Given the description of an element on the screen output the (x, y) to click on. 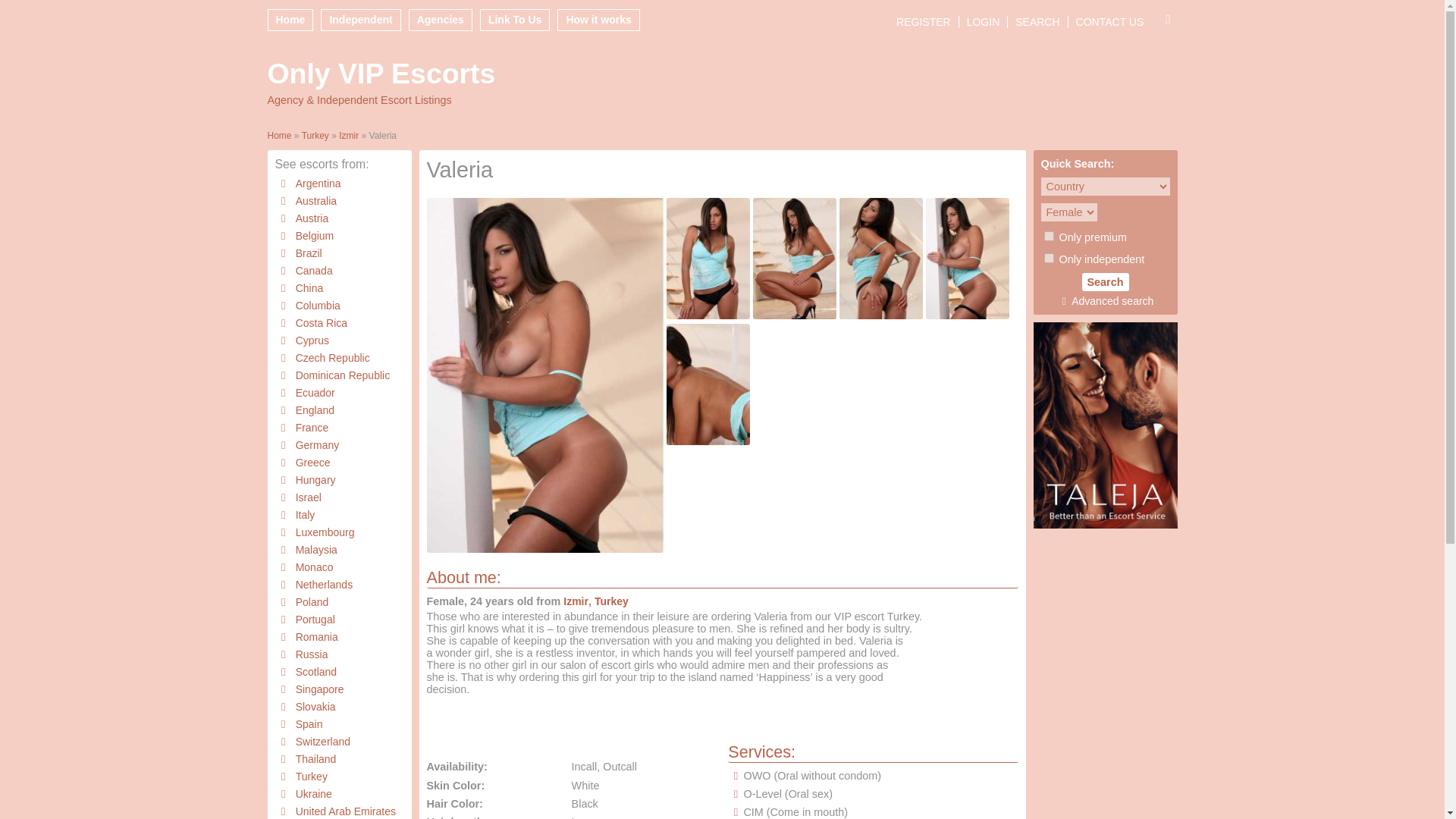
Search (1104, 281)
yes (1047, 257)
1 (1047, 235)
